Given the description of an element on the screen output the (x, y) to click on. 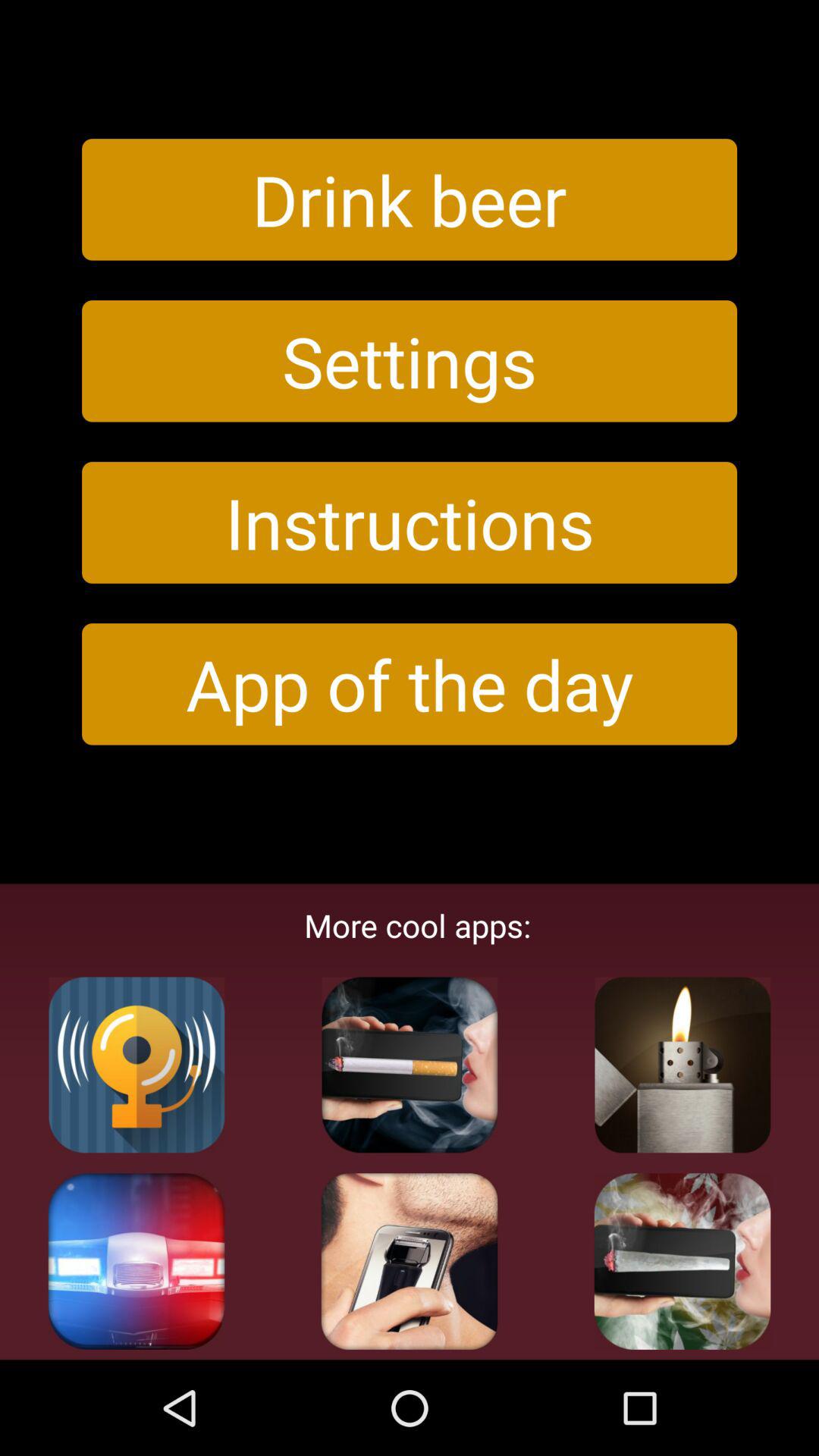
choose instructions button (409, 522)
